Given the description of an element on the screen output the (x, y) to click on. 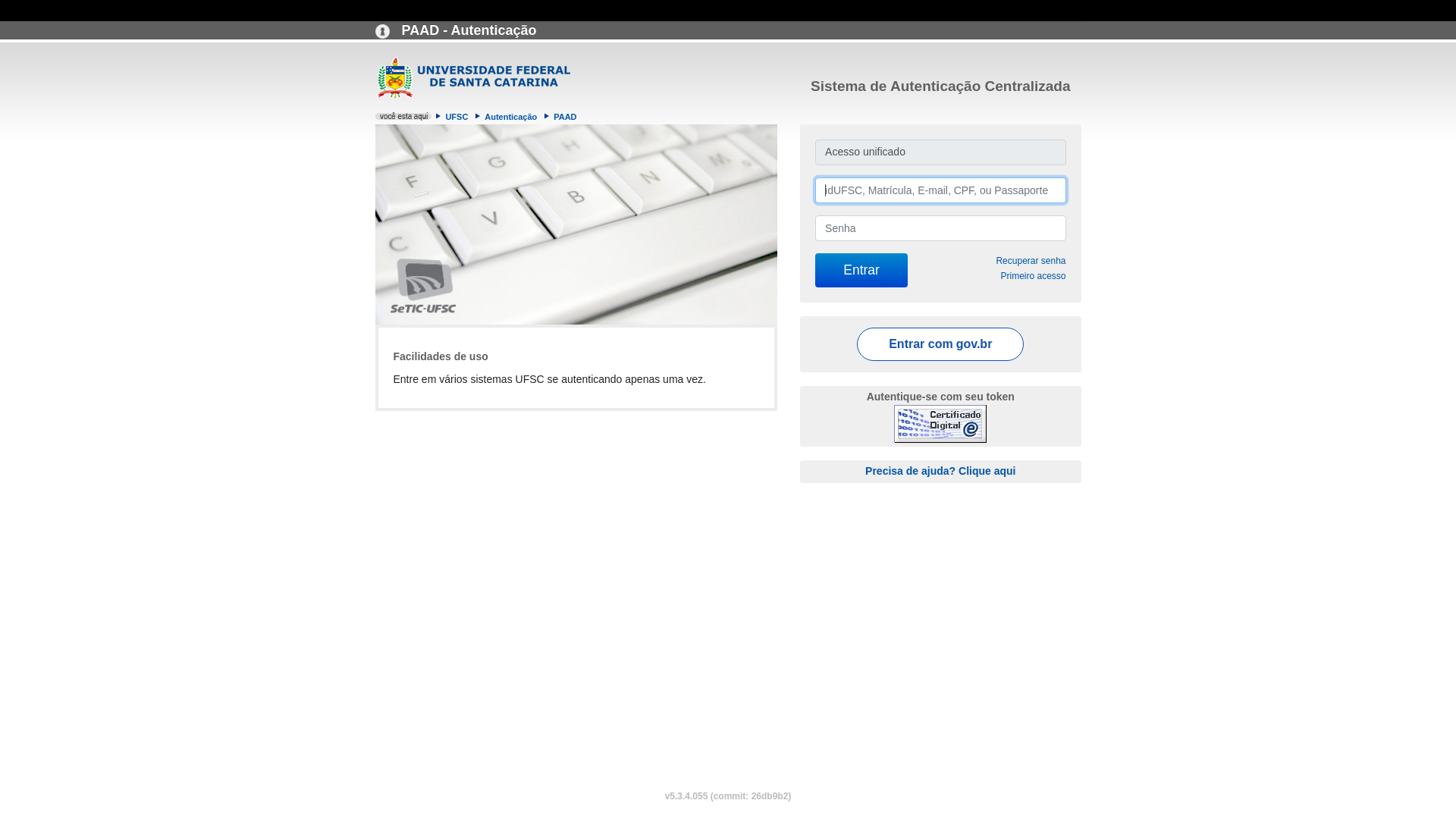
Precisa de ajuda? Clique aqui Element type: text (940, 470)
Recuperar senha Element type: text (1030, 260)
Entrar Element type: text (861, 270)
UFSC Element type: text (456, 116)
Primeiro acesso Element type: text (1032, 275)
Entrar com
gov.br Element type: text (939, 343)
PAAD Element type: text (564, 116)
